Given the description of an element on the screen output the (x, y) to click on. 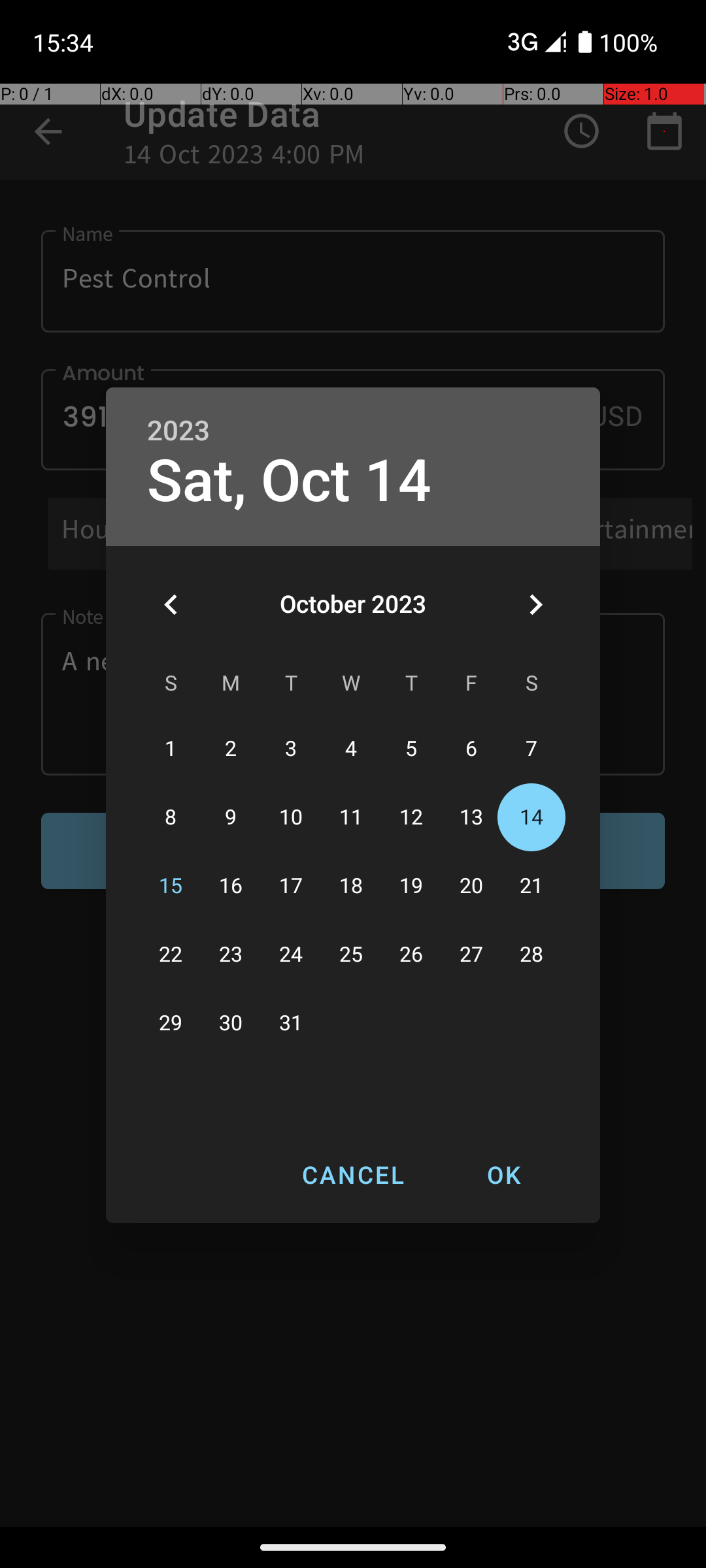
Sat, Oct 14 Element type: android.widget.TextView (289, 480)
